Given the description of an element on the screen output the (x, y) to click on. 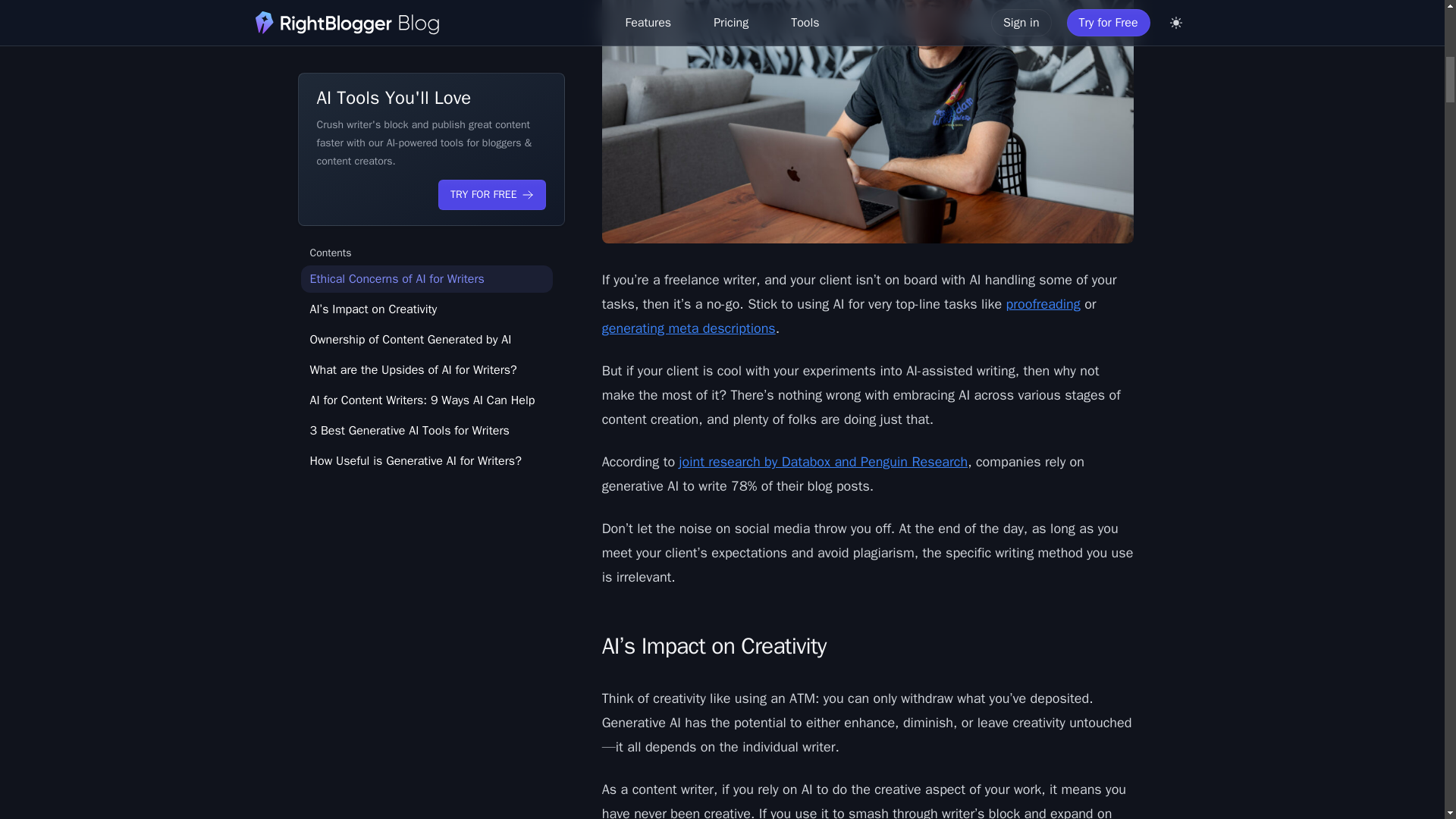
proofreading (1043, 303)
joint research by Databox and Penguin Research (823, 461)
generating meta descriptions (689, 328)
